Given the description of an element on the screen output the (x, y) to click on. 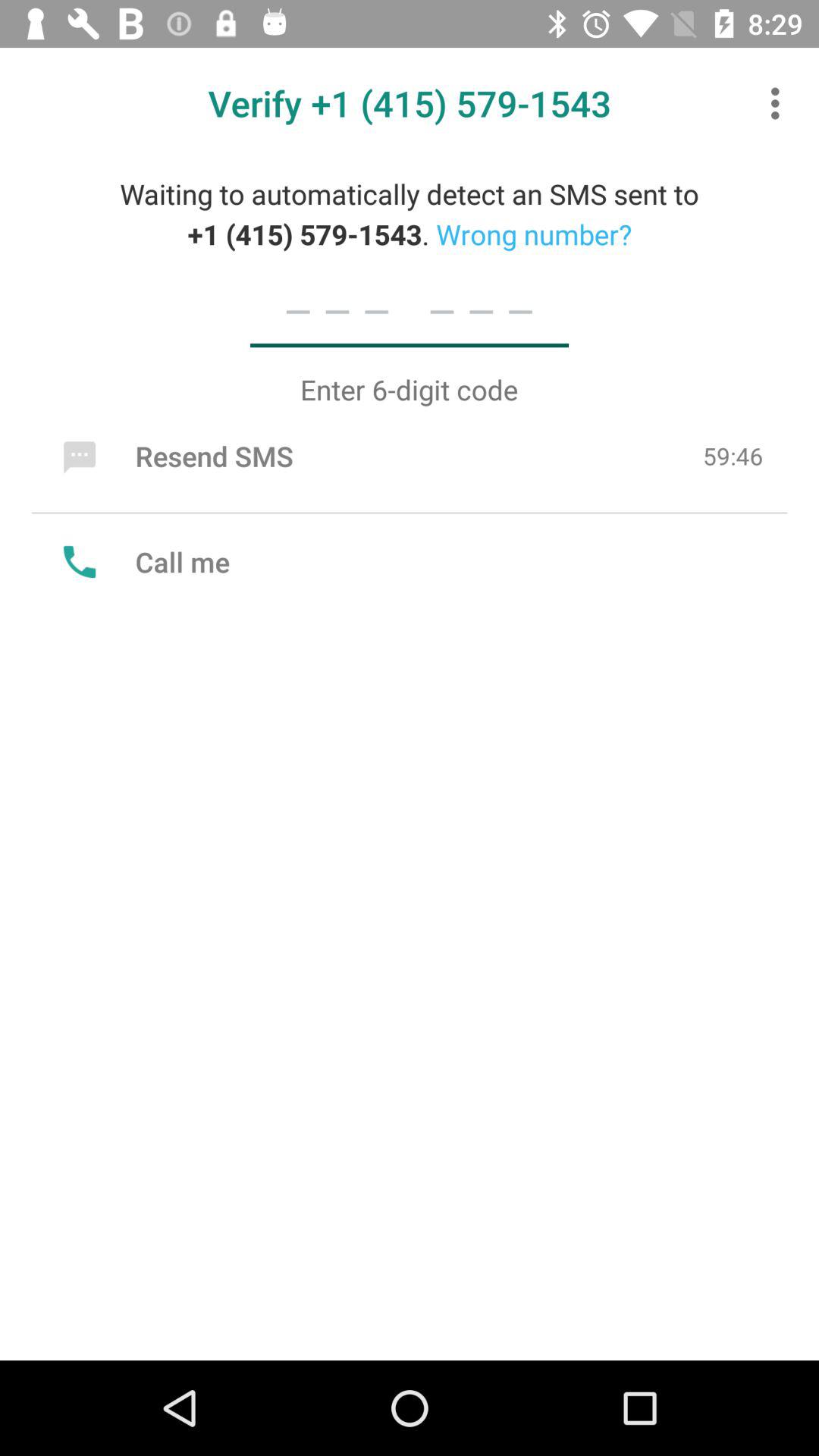
press the item next to the 59:46 icon (174, 455)
